Given the description of an element on the screen output the (x, y) to click on. 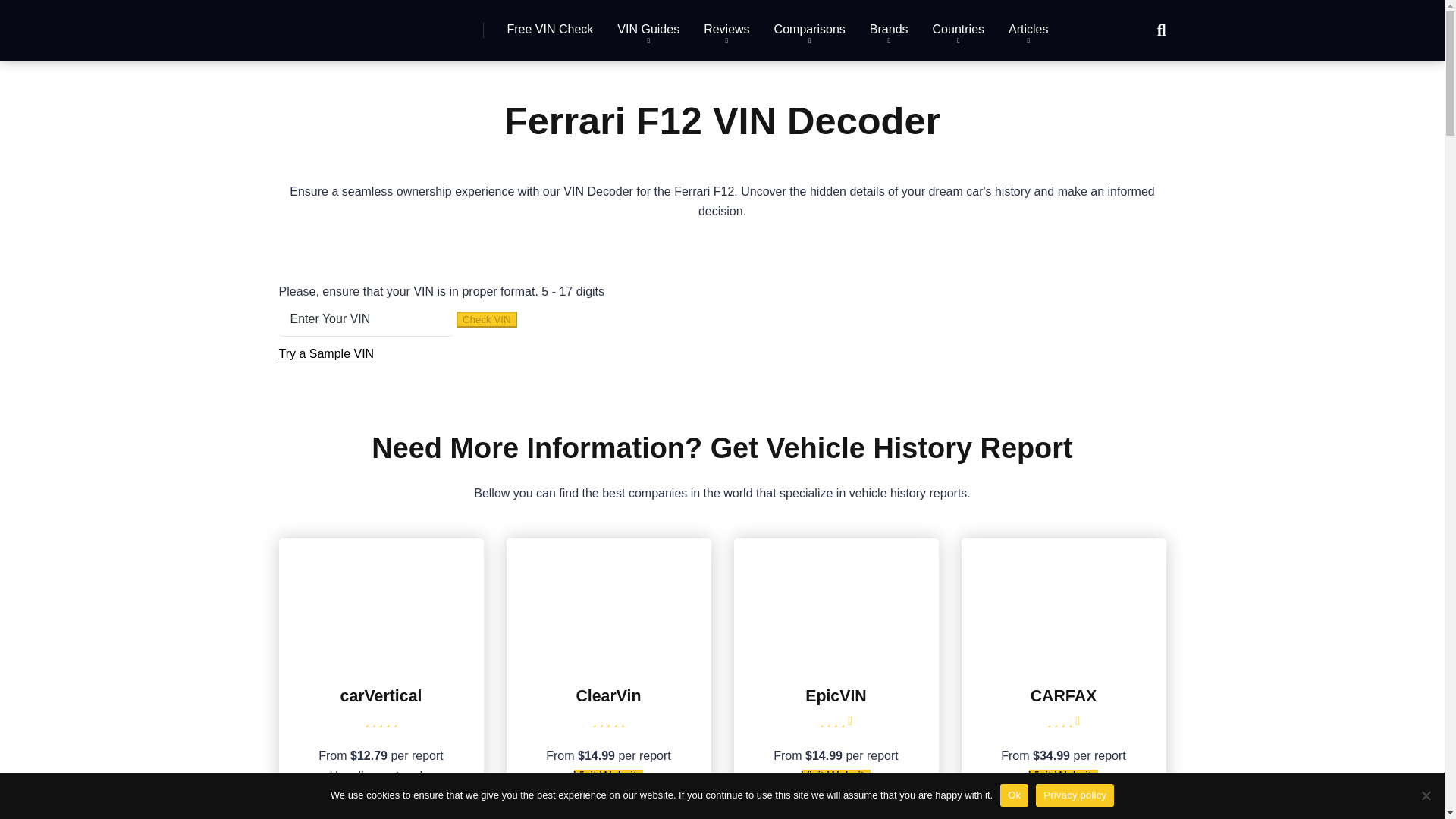
Visit Website (1064, 775)
Brands (888, 30)
ClearVin (607, 658)
VIN Mentor (346, 24)
Reviews (726, 30)
EpicVIN (835, 696)
Countries (957, 30)
Comparisons (809, 30)
Visit Website (836, 775)
Visit Website (381, 814)
